Given the description of an element on the screen output the (x, y) to click on. 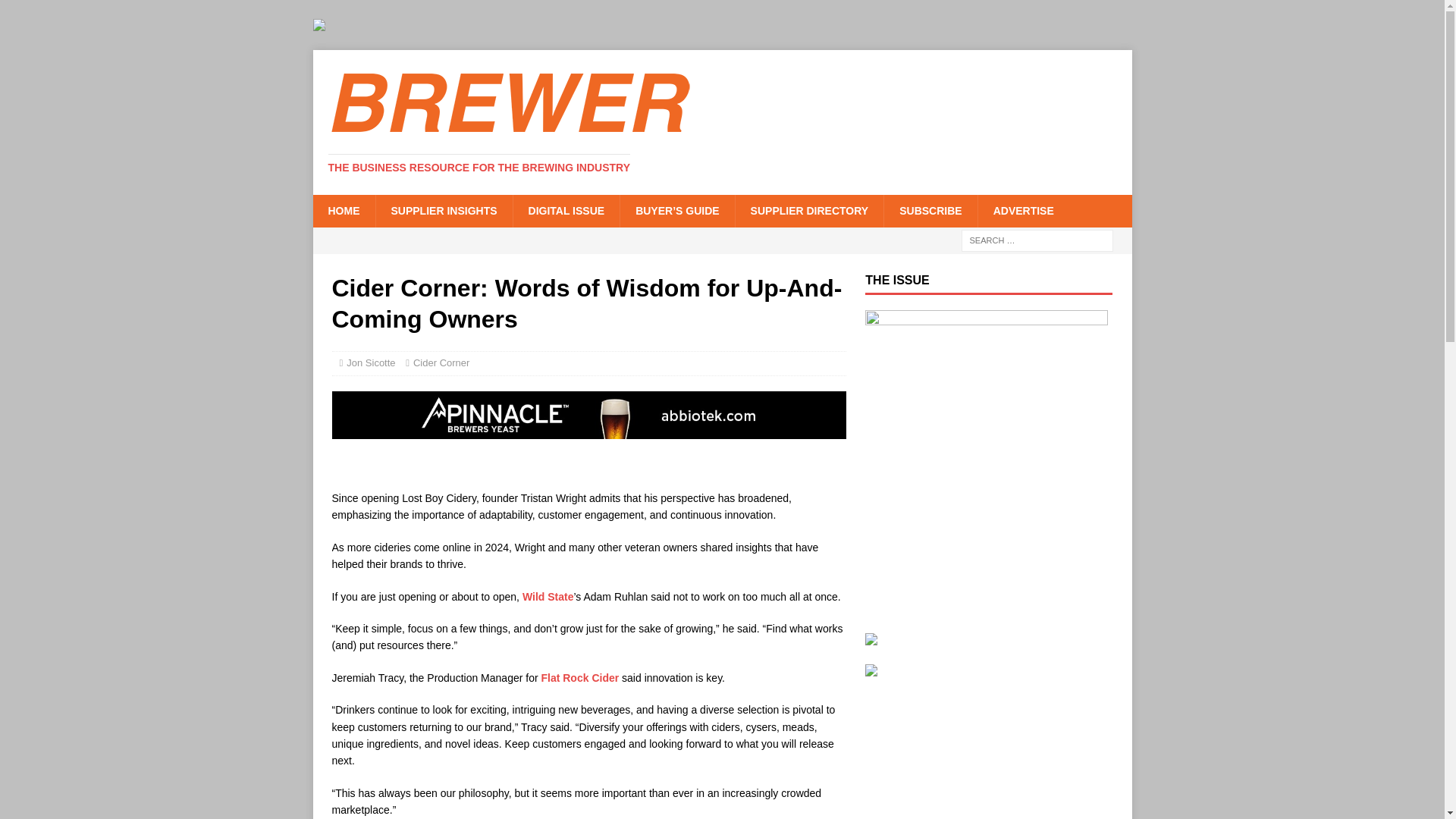
SUBSCRIBE (929, 210)
Wild State (547, 596)
HOME (343, 210)
SUPPLIER INSIGHTS (443, 210)
Cider Corner (440, 362)
Search (56, 11)
SUPPLIER DIRECTORY (809, 210)
ADVERTISE (1022, 210)
Flat Rock Cider (579, 677)
THE BUSINESS RESOURCE FOR THE BREWING INDUSTRY (478, 167)
